Given the description of an element on the screen output the (x, y) to click on. 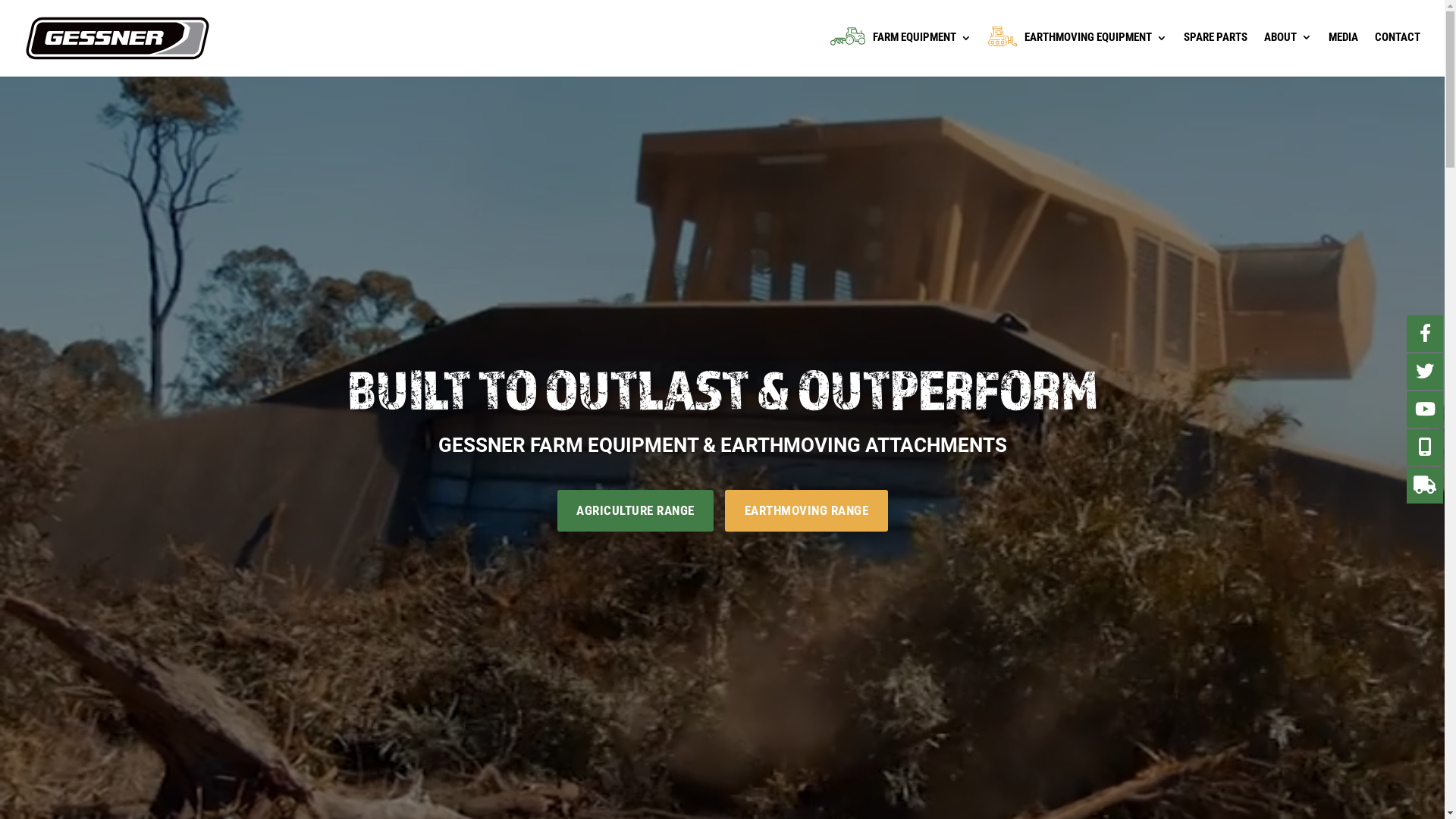
SPARE PARTS Element type: text (1215, 50)
EARTHMOVING EQUIPMENT Element type: text (1077, 51)
EARTHMOVING RANGE Element type: text (806, 509)
AGRICULTURE RANGE Element type: text (634, 509)
FARM EQUIPMENT Element type: text (900, 51)
CONTACT Element type: text (1397, 50)
ABOUT Element type: text (1287, 50)
MEDIA Element type: text (1343, 50)
